Given the description of an element on the screen output the (x, y) to click on. 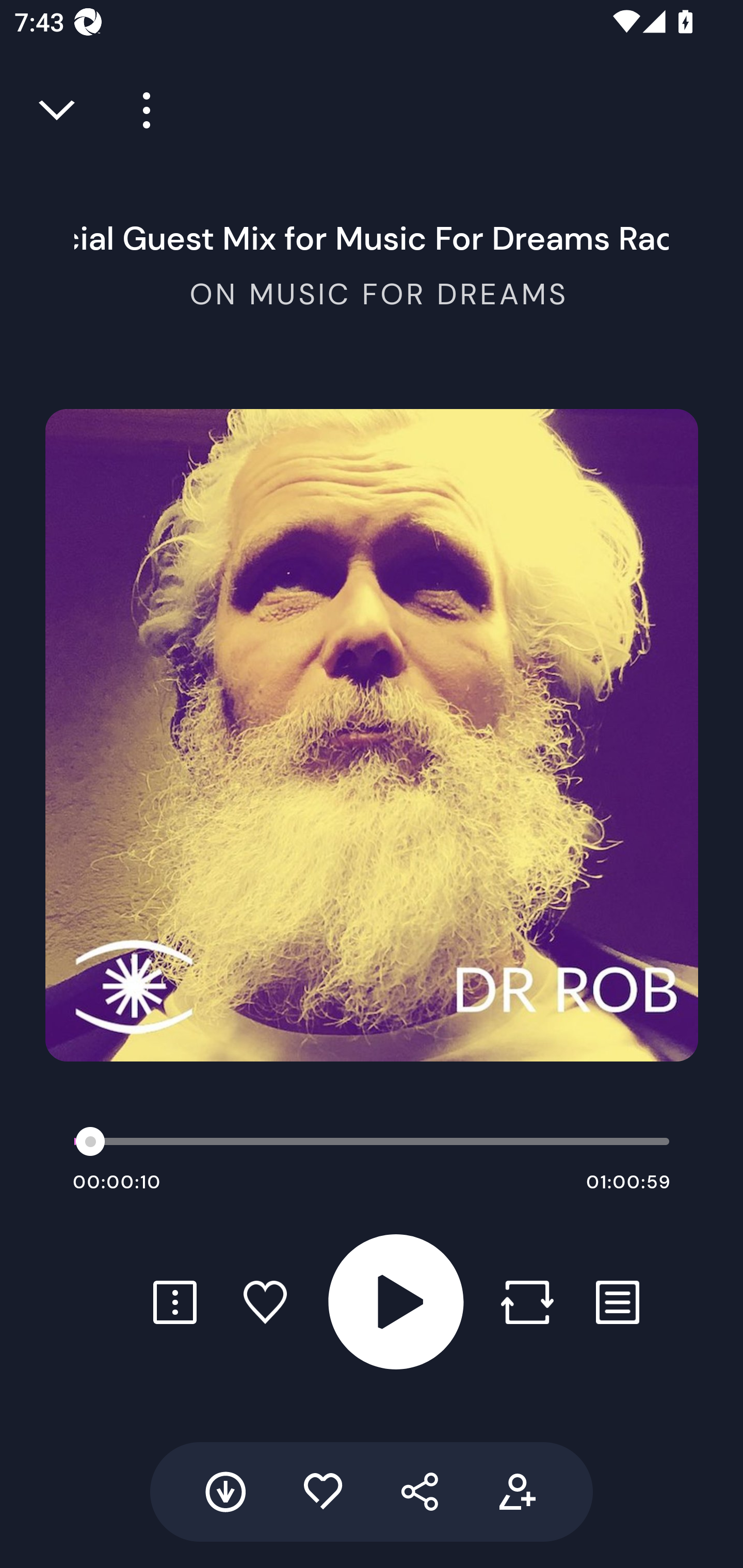
Close full player (58, 110)
Player more options button (139, 110)
Repost button (527, 1301)
